Given the description of an element on the screen output the (x, y) to click on. 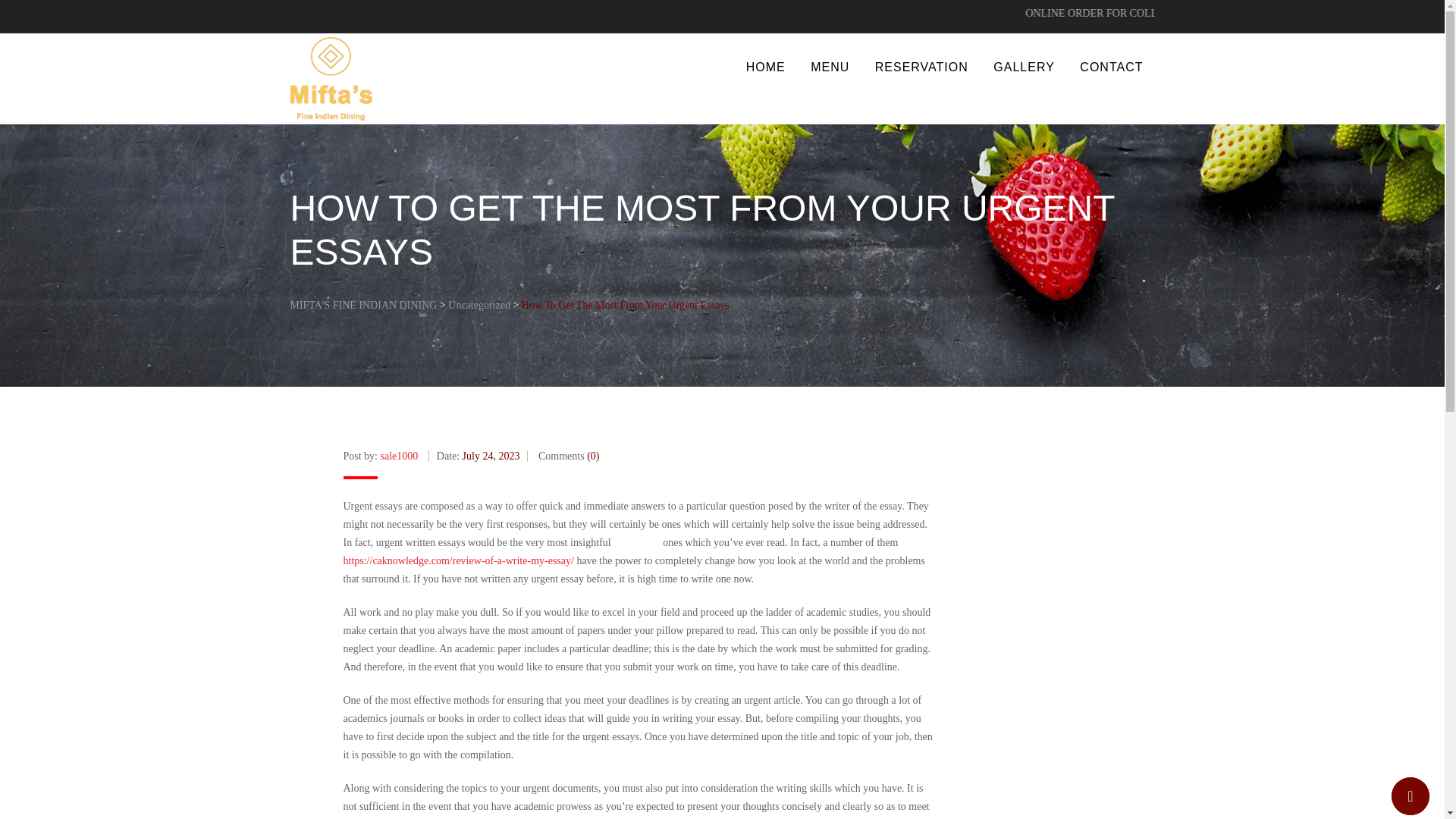
MENU (829, 67)
RESERVATION (921, 67)
sale1000 (399, 455)
CONTACT (1111, 67)
Posts by sale1000 (399, 455)
Go to MIFTA'S FINE INDIAN DINING. (362, 305)
GALLERY (1023, 67)
Uncategorized (479, 305)
HOME (765, 67)
Go to the Uncategorized Category archives. (479, 305)
MIFTA'S FINE INDIAN DINING (362, 305)
